Given the description of an element on the screen output the (x, y) to click on. 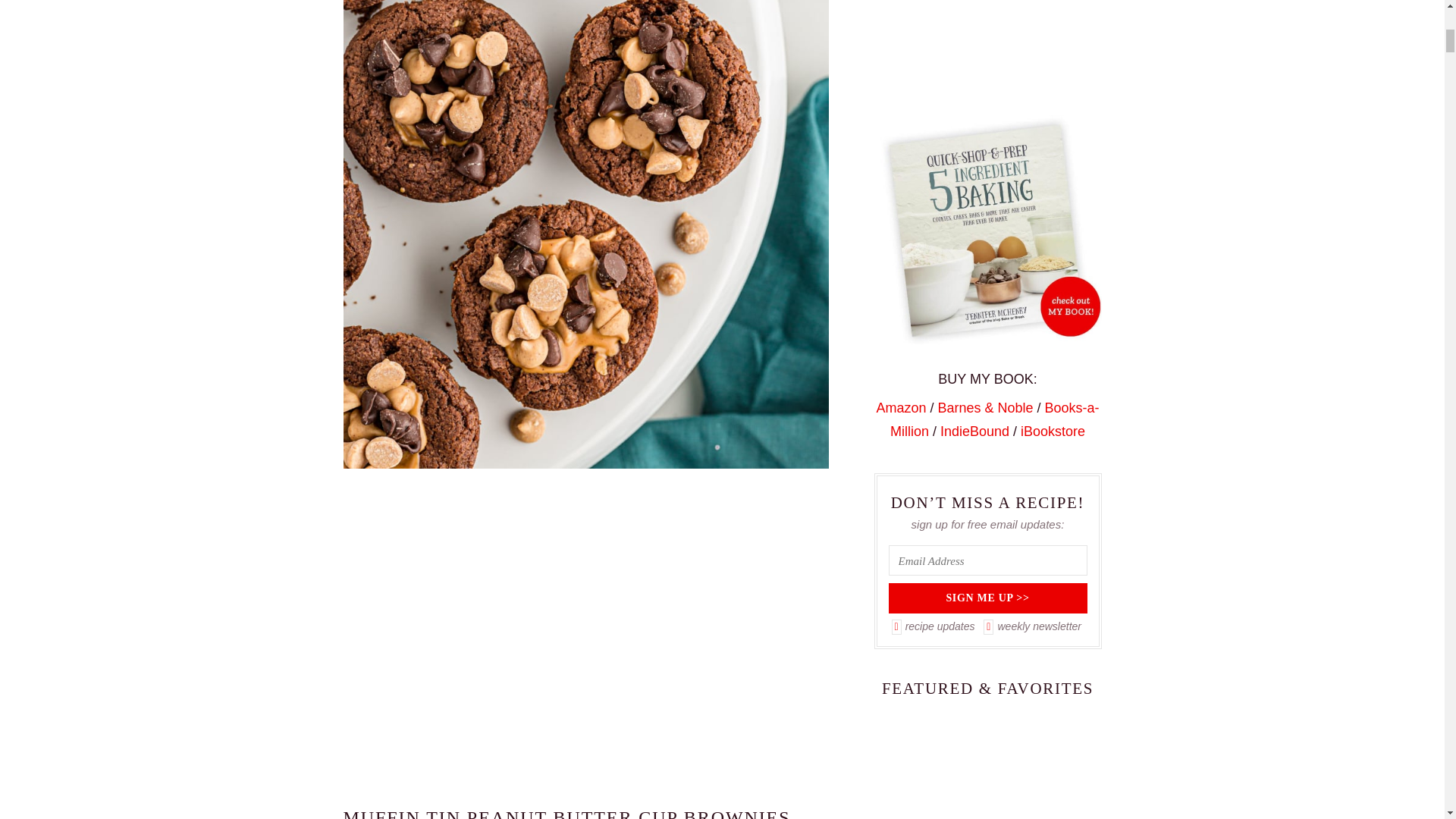
Chocolate Eclair Cake (986, 764)
